Given the description of an element on the screen output the (x, y) to click on. 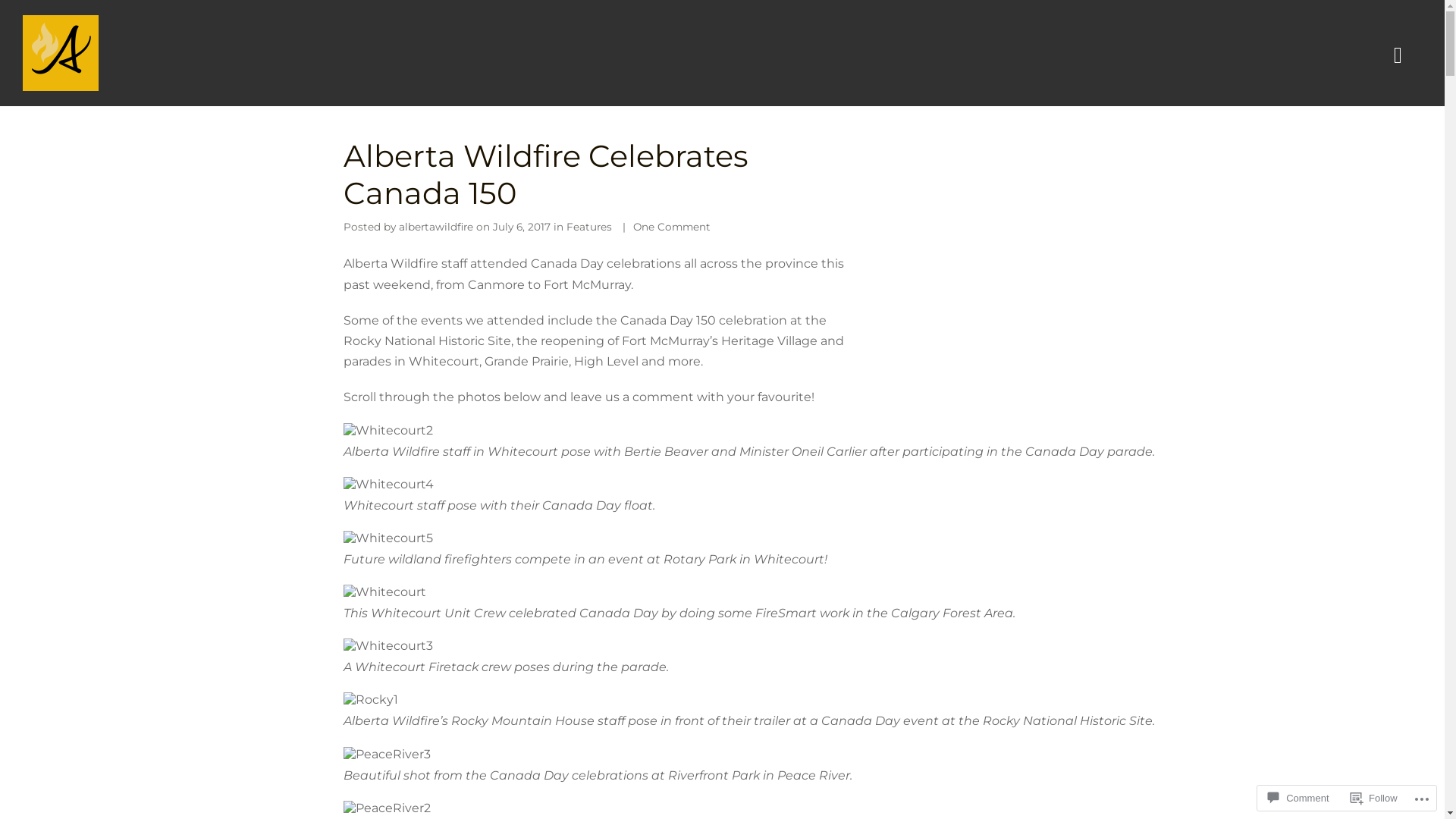
One Comment Element type: text (670, 226)
July 6, 2017 Element type: text (521, 226)
Features Element type: text (588, 226)
Comment Element type: text (1297, 797)
Follow Element type: text (1373, 797)
albertawildfire Element type: text (435, 226)
